Given the description of an element on the screen output the (x, y) to click on. 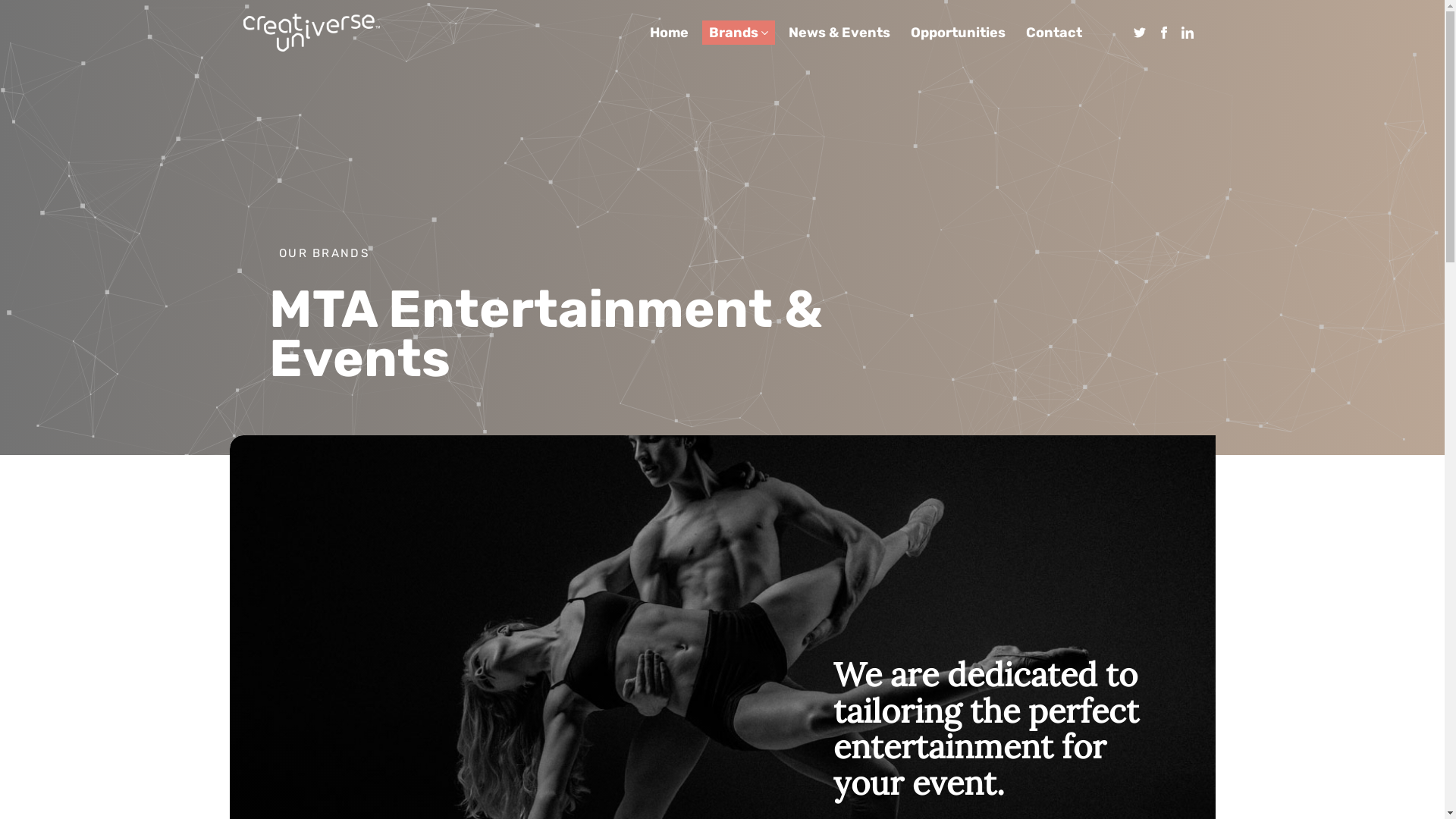
Connect with us on Facebook Element type: hover (1163, 33)
News & Events Element type: text (839, 32)
Opportunities Element type: text (957, 32)
Contact Element type: text (1054, 32)
Connect with us on LinkedIn Element type: hover (1187, 33)
Brands Element type: text (733, 32)
Home Element type: text (668, 32)
Connect with us on Twitter Element type: hover (1139, 33)
